Given the description of an element on the screen output the (x, y) to click on. 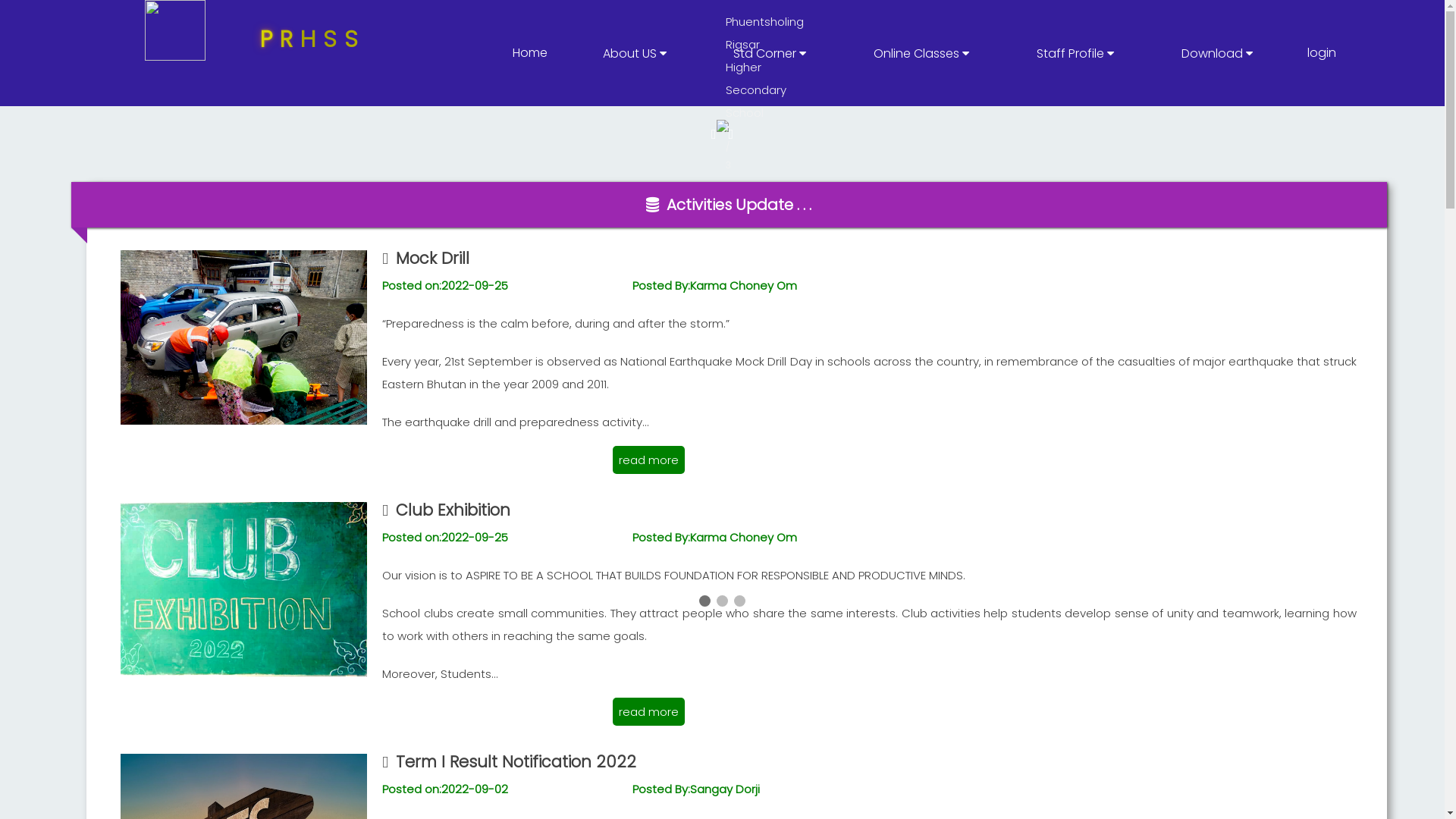
About US Element type: text (634, 53)
read more Element type: text (648, 459)
Online Classes Element type: text (921, 53)
read more Element type: text (648, 711)
Staff Profile Element type: text (1075, 53)
Std Corner Element type: text (769, 53)
Home Element type: text (529, 52)
login Element type: text (1321, 52)
Download Element type: text (1216, 53)
